Given the description of an element on the screen output the (x, y) to click on. 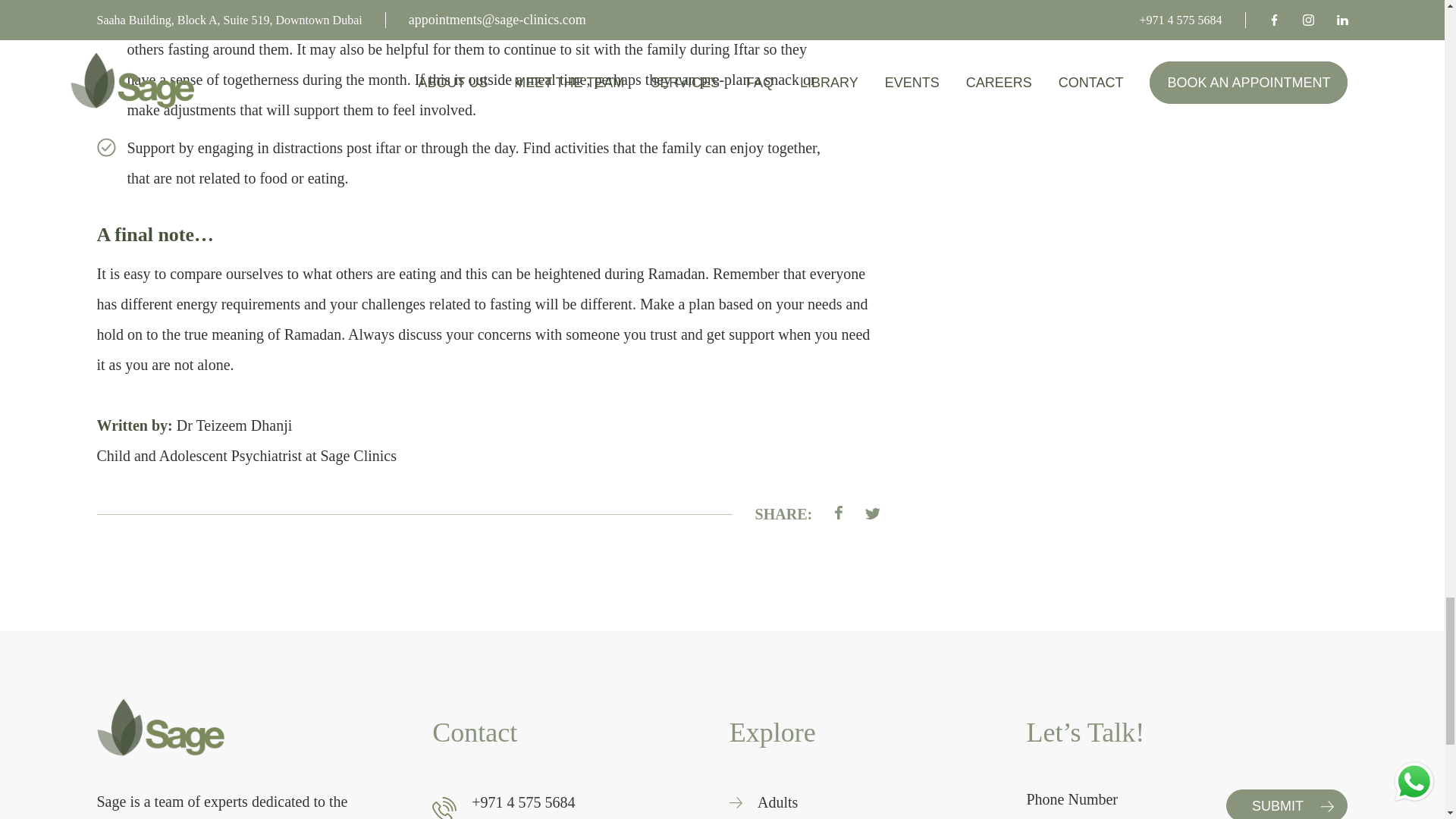
Submit (1286, 804)
Adults (777, 802)
